Given the description of an element on the screen output the (x, y) to click on. 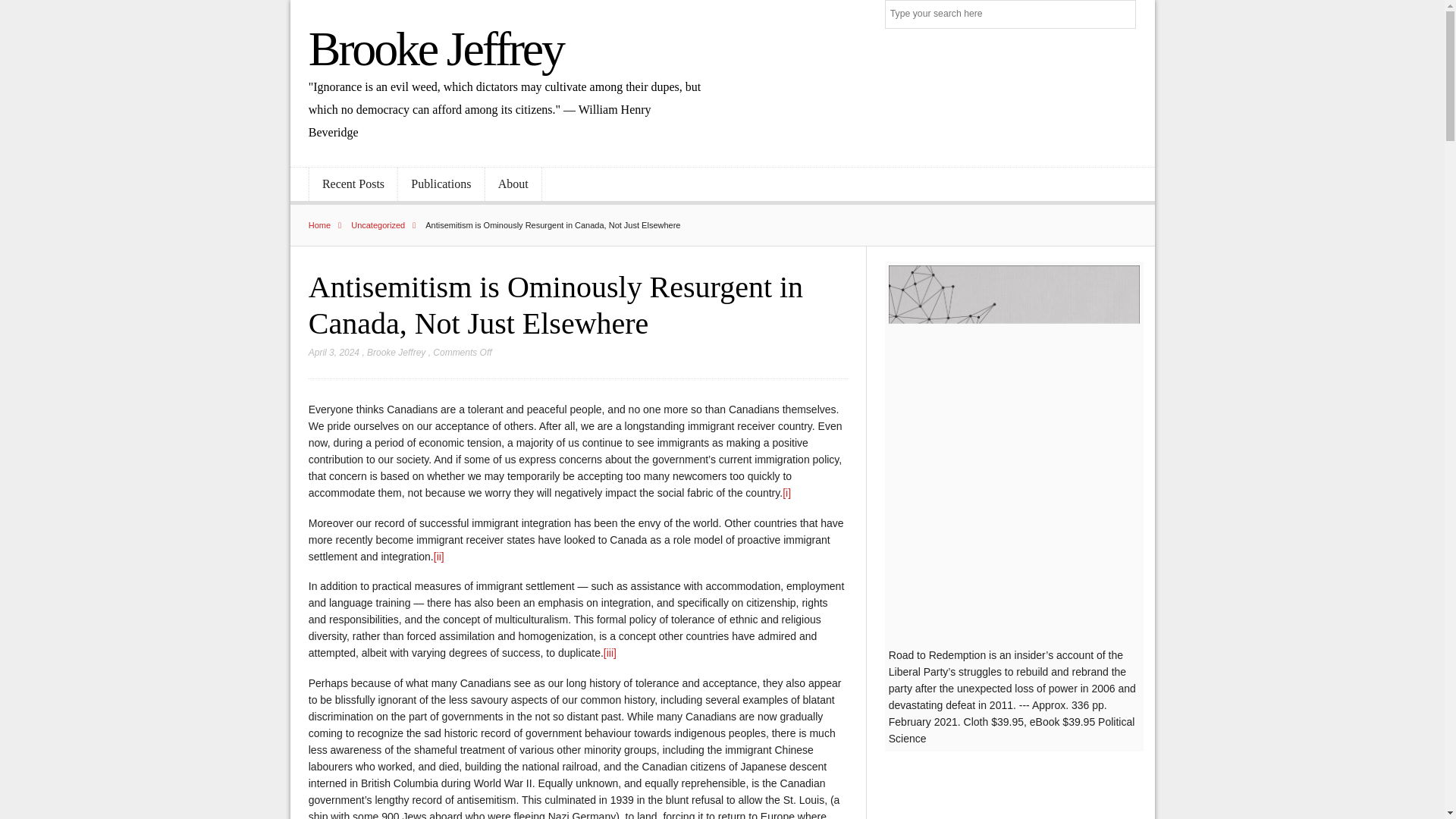
Search (1123, 15)
Publications (440, 184)
Brooke Jeffrey (395, 352)
Uncategorized (386, 225)
Posts by Brooke Jeffrey (395, 352)
Home (328, 225)
Recent Posts (352, 184)
About (512, 184)
Brooke Jeffrey (435, 49)
